Given the description of an element on the screen output the (x, y) to click on. 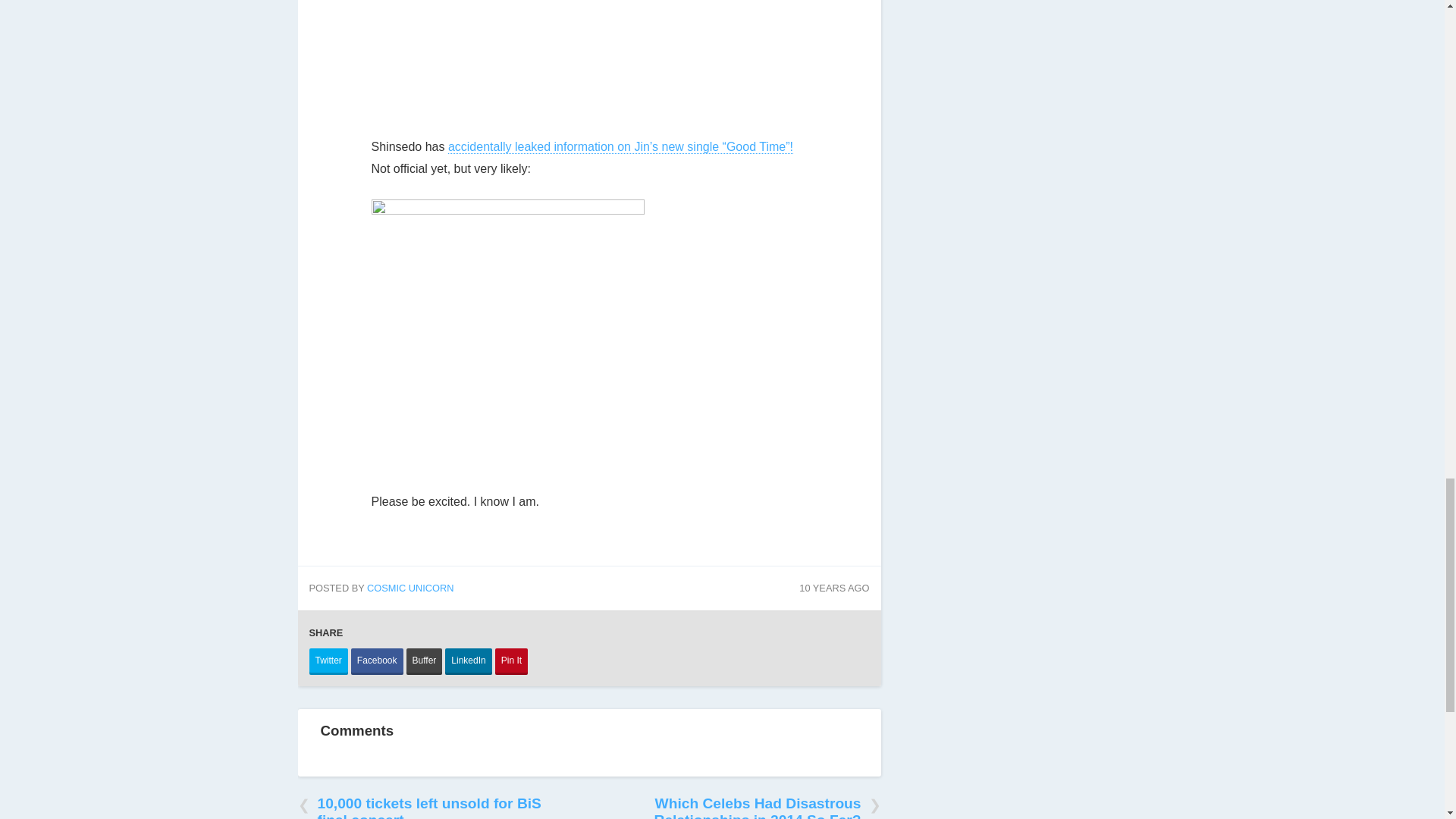
Which Celebs Had Disastrous Relationships in 2014 So Far? (755, 803)
Buffer (424, 661)
LinkedIn (468, 661)
Pin It (511, 661)
10,000 tickets left unsold for BiS final concert (422, 803)
COSMIC UNICORN (409, 587)
Twitter (327, 661)
Posts by Cosmic Unicorn (409, 587)
Facebook (376, 661)
